Given the description of an element on the screen output the (x, y) to click on. 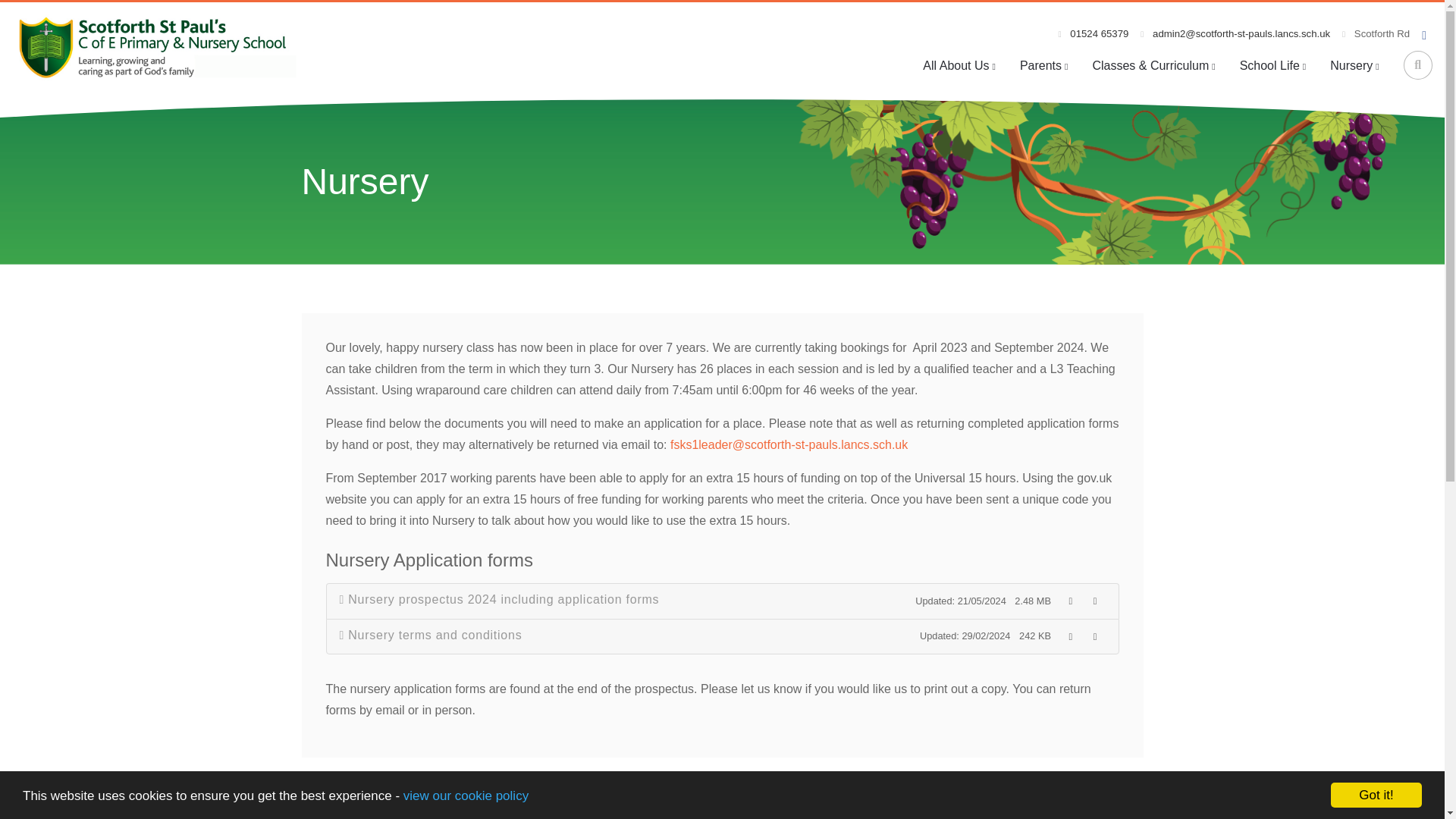
Share on Facebook (339, 806)
Parents (1043, 65)
Post on X (427, 806)
Facebook (930, 628)
01524 65379 (1093, 33)
All About Us (959, 65)
